Given the description of an element on the screen output the (x, y) to click on. 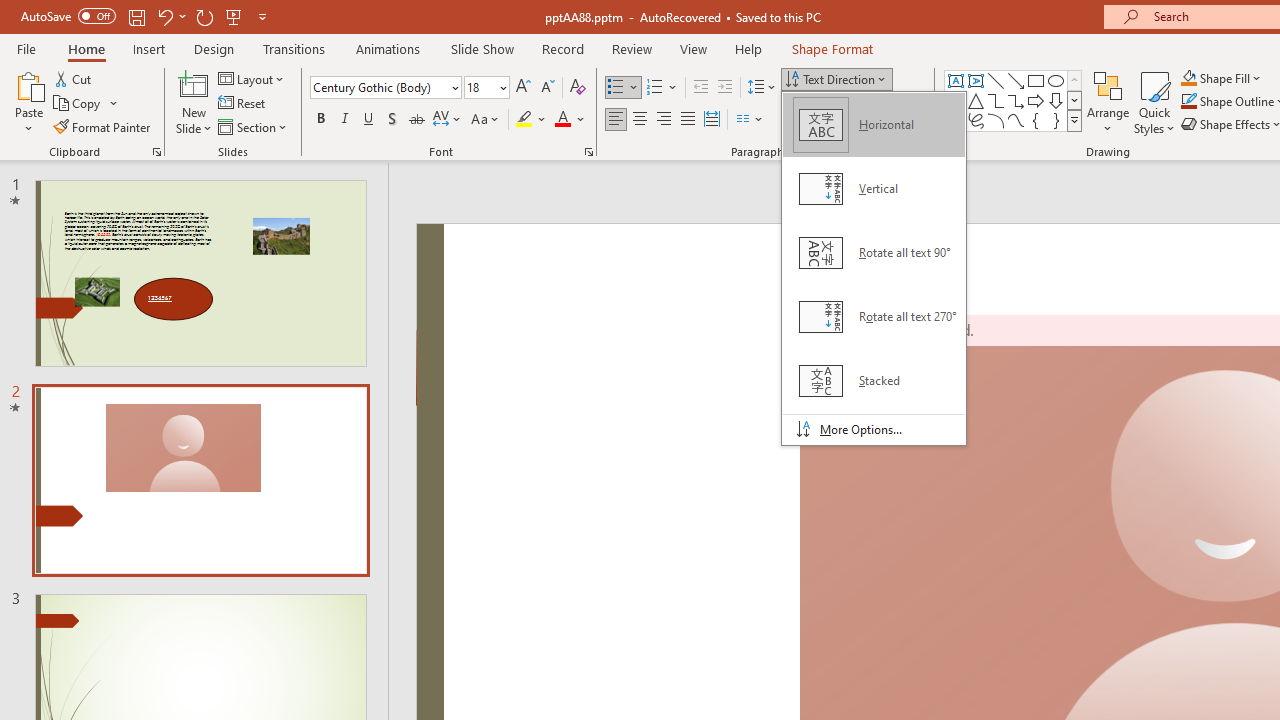
Shape Fill Aqua, Accent 2 (1188, 78)
